Given the description of an element on the screen output the (x, y) to click on. 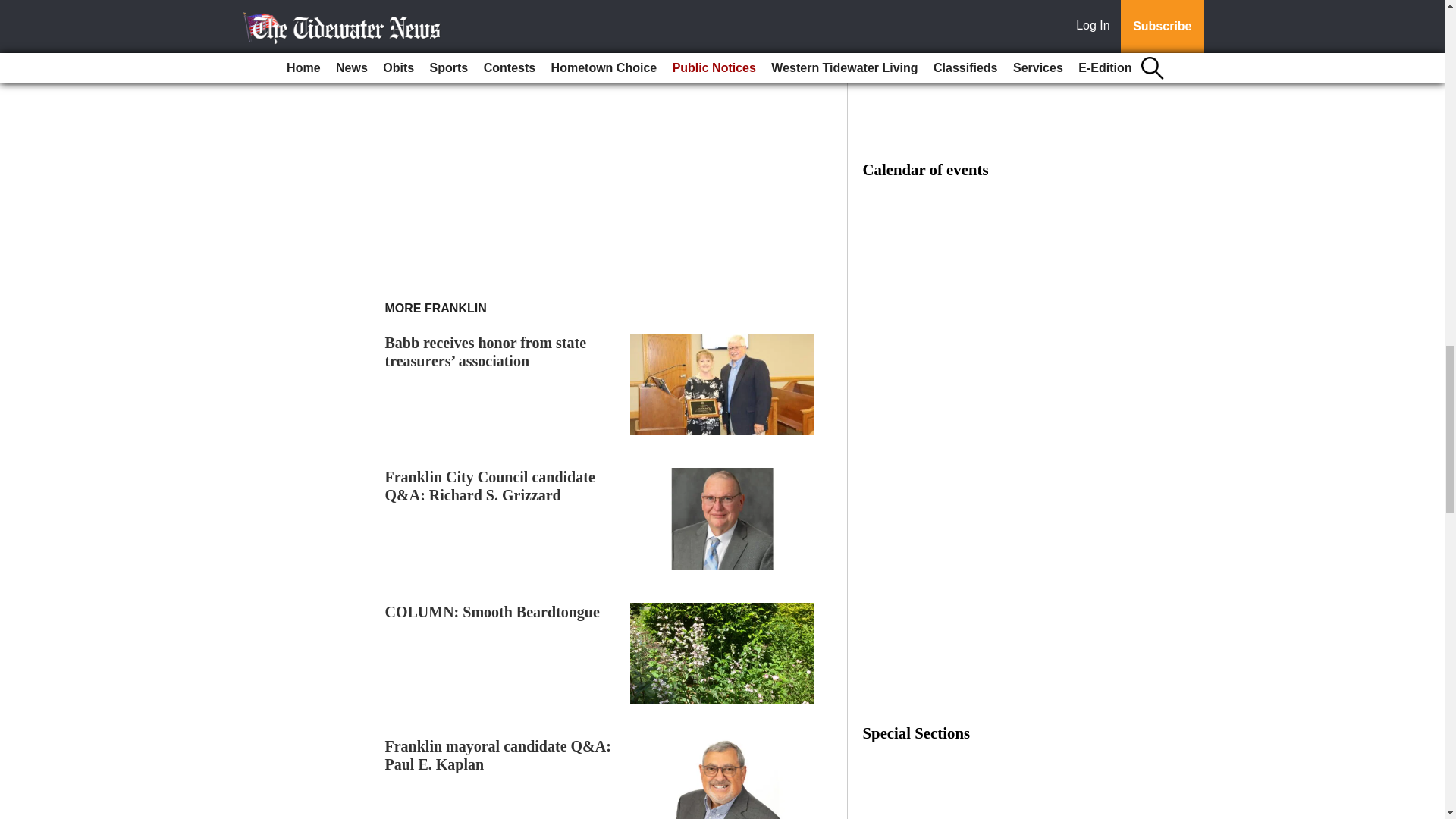
COLUMN: Smooth Beardtongue (492, 611)
